Given the description of an element on the screen output the (x, y) to click on. 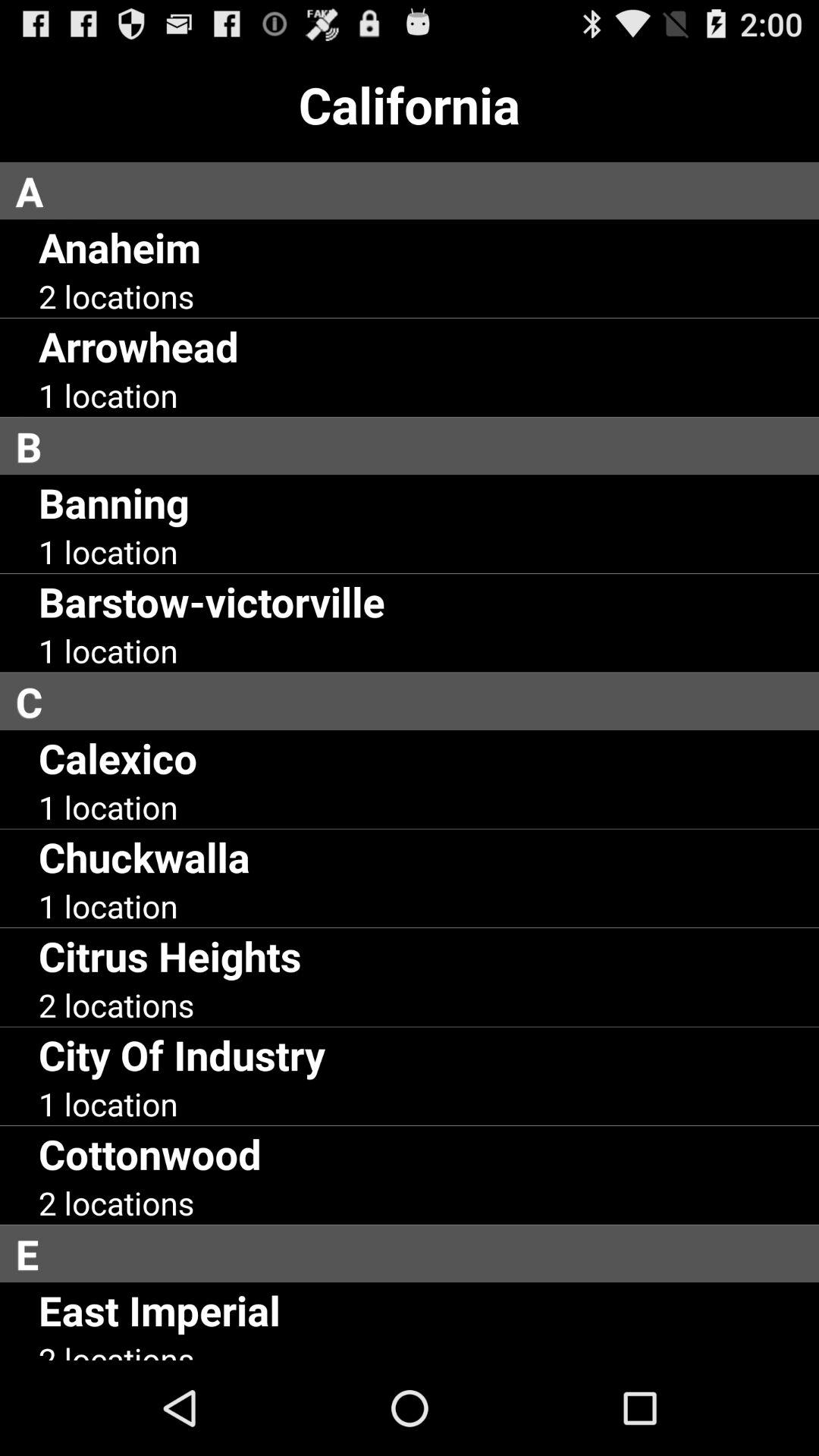
turn on icon below the 2 locations (417, 1253)
